Given the description of an element on the screen output the (x, y) to click on. 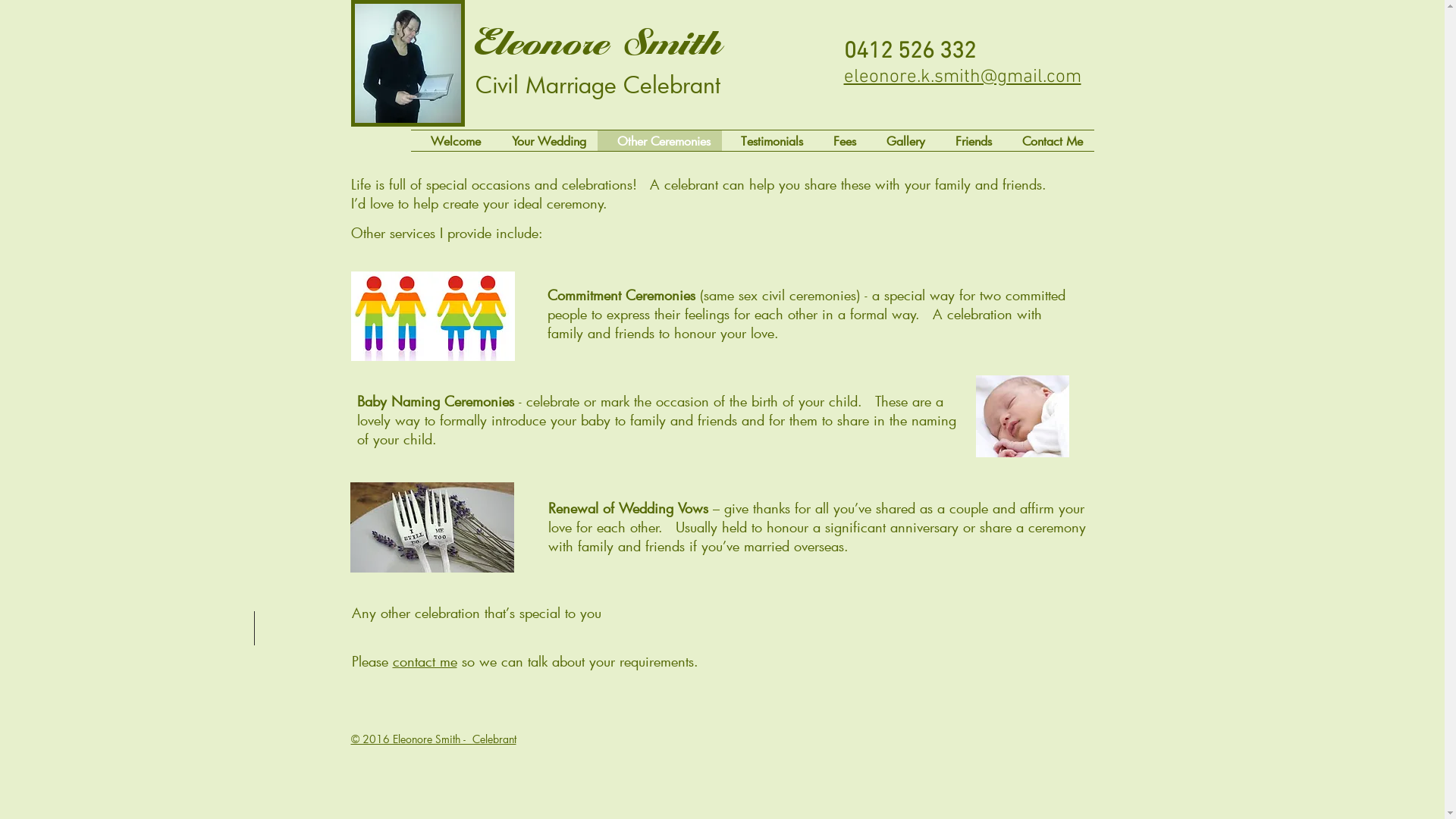
Eleonore Smith Element type: text (599, 37)
contact me Element type: text (424, 661)
Your Wedding Element type: text (543, 140)
Gallery Element type: text (901, 140)
Contact Me Element type: text (1047, 140)
Welcome Element type: text (451, 140)
eleonore.k.smith@gmail.com Element type: text (961, 76)
Other Ceremonies Element type: text (659, 140)
Fees Element type: text (840, 140)
Testimonials Element type: text (767, 140)
Friends Element type: text (968, 140)
